Given the description of an element on the screen output the (x, y) to click on. 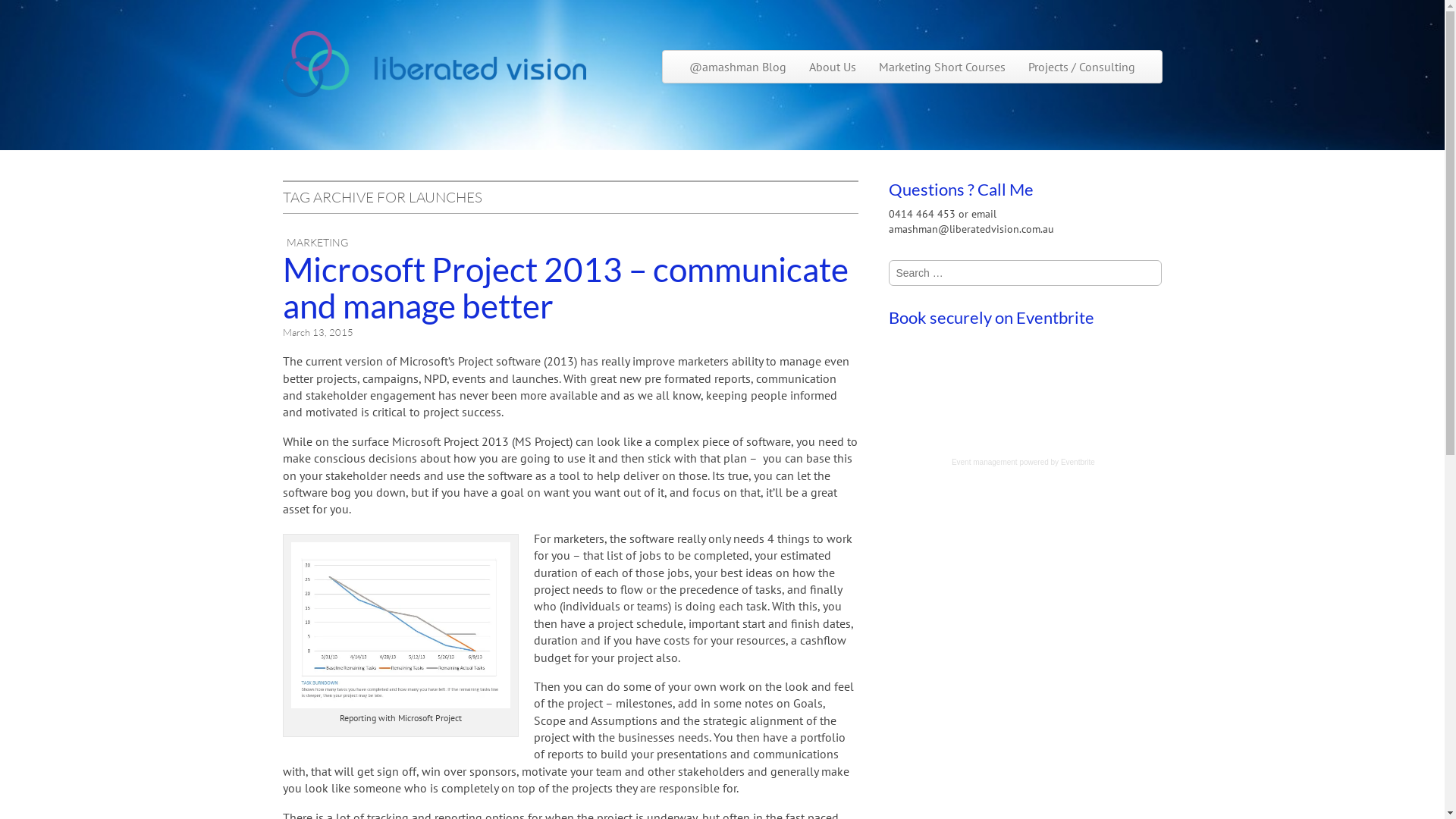
Search Element type: text (28, 11)
@amashman Blog Element type: text (737, 66)
Eventbrite Element type: text (1077, 462)
liberated vision Element type: text (374, 85)
Event management Element type: text (984, 462)
liberated vision Element type: hover (433, 64)
Marketing Short Courses Element type: text (941, 66)
Projects / Consulting Element type: text (1080, 66)
Skip to content Element type: text (700, 58)
About Us Element type: text (832, 66)
MARKETING Element type: text (317, 241)
